Given the description of an element on the screen output the (x, y) to click on. 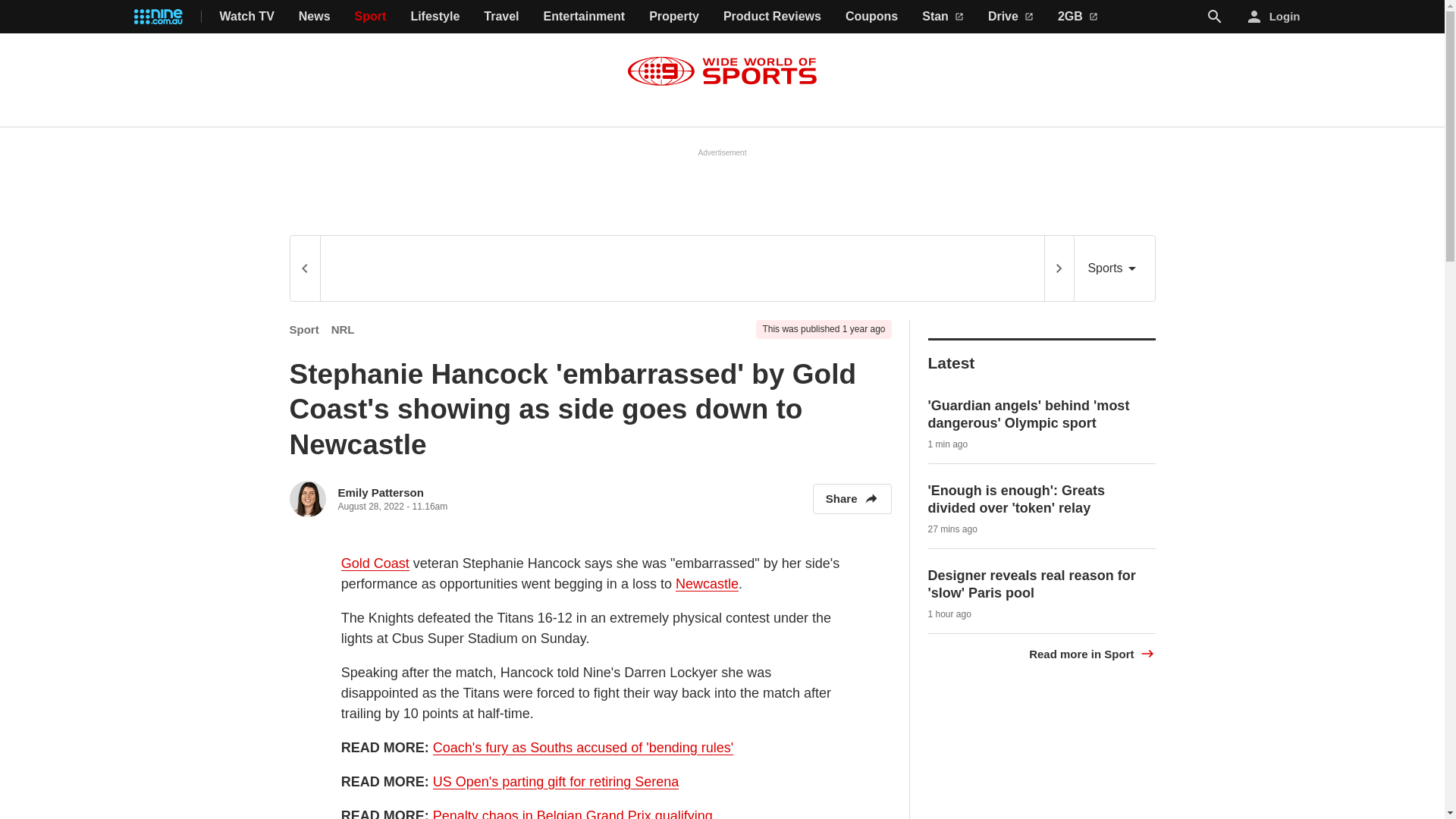
Search (1214, 16)
Watch TV (247, 16)
Search (1214, 16)
Coupons (871, 16)
Emily Patterson (380, 492)
NRL (343, 328)
Sport (303, 328)
Penalty chaos in Belgian Grand Prix qualifying (572, 813)
Lifestyle (435, 16)
Stan (942, 16)
